Given the description of an element on the screen output the (x, y) to click on. 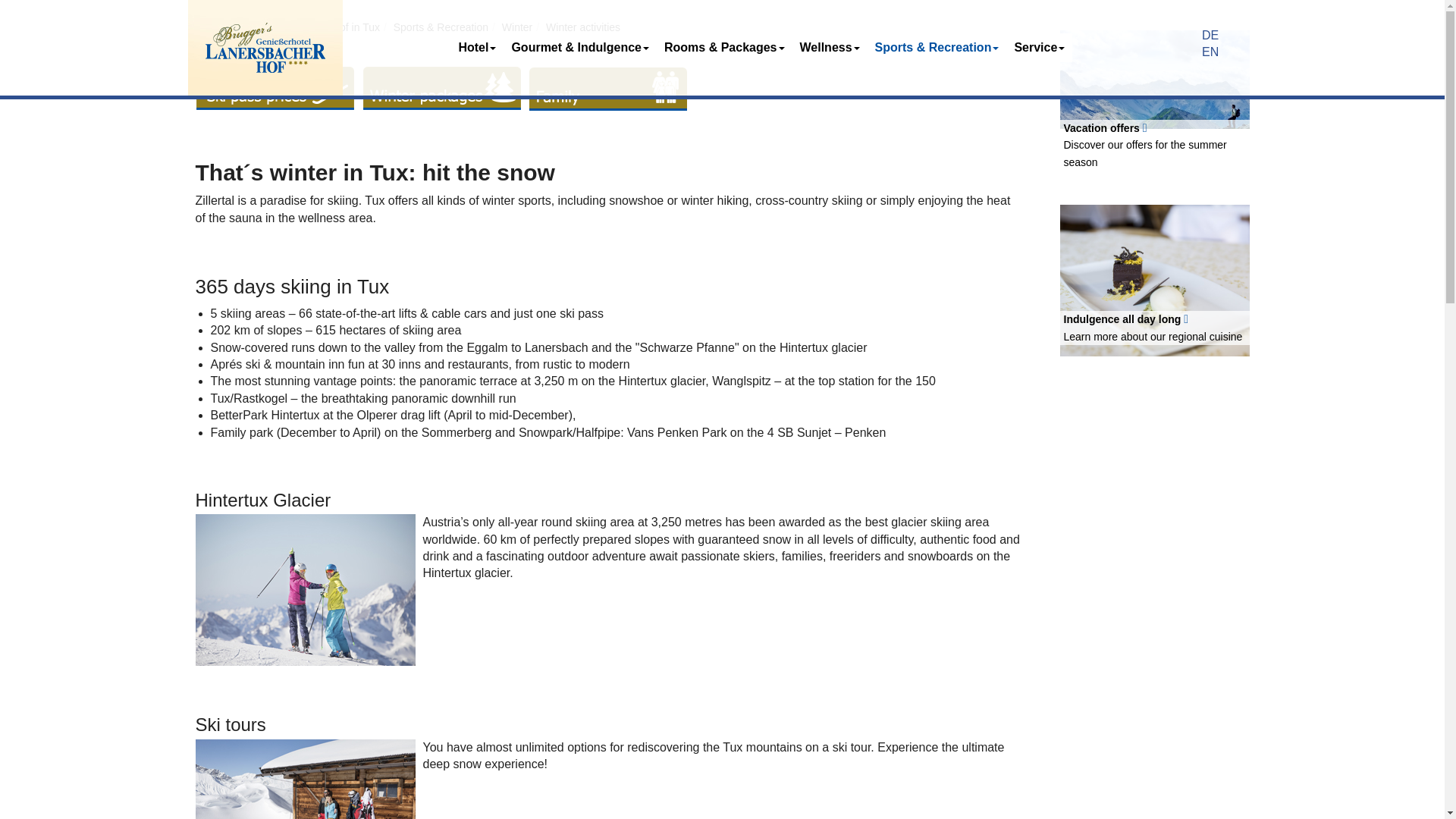
EN (1210, 51)
Wellness (829, 47)
Hotel (476, 47)
DE (1210, 34)
Hotel (476, 47)
Service (1038, 47)
